Given the description of an element on the screen output the (x, y) to click on. 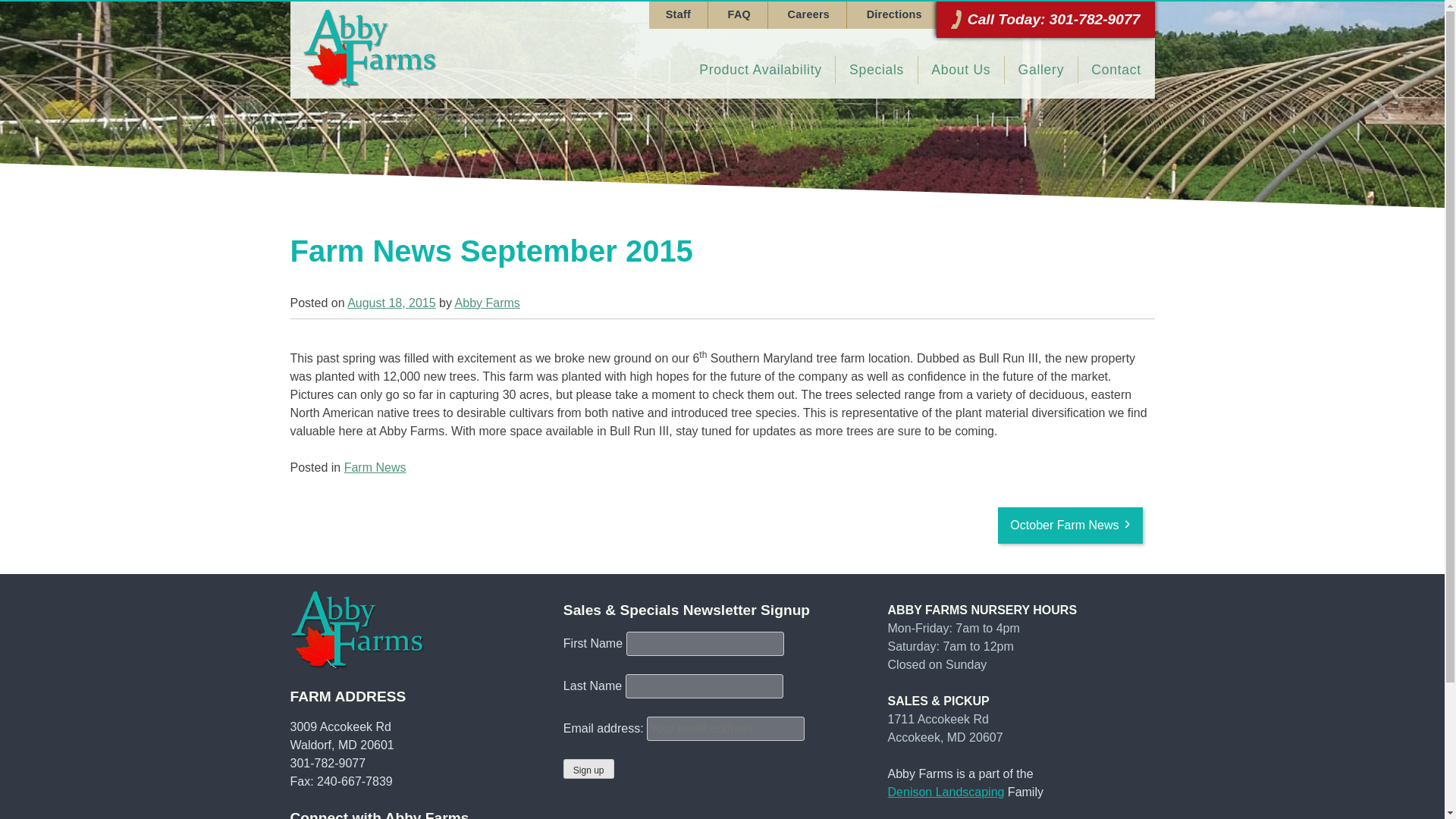
October Farm News (1069, 524)
Directions (893, 14)
Product Availability (760, 70)
About Us (961, 70)
Staff (678, 14)
Farm News (374, 467)
Gallery (1040, 70)
FAQ (739, 14)
August 18, 2015 (391, 302)
Sign up (588, 768)
Careers (808, 14)
Sign up (588, 768)
Abby Farms (486, 302)
Contact (1116, 70)
Denison Landscaping (946, 791)
